Given the description of an element on the screen output the (x, y) to click on. 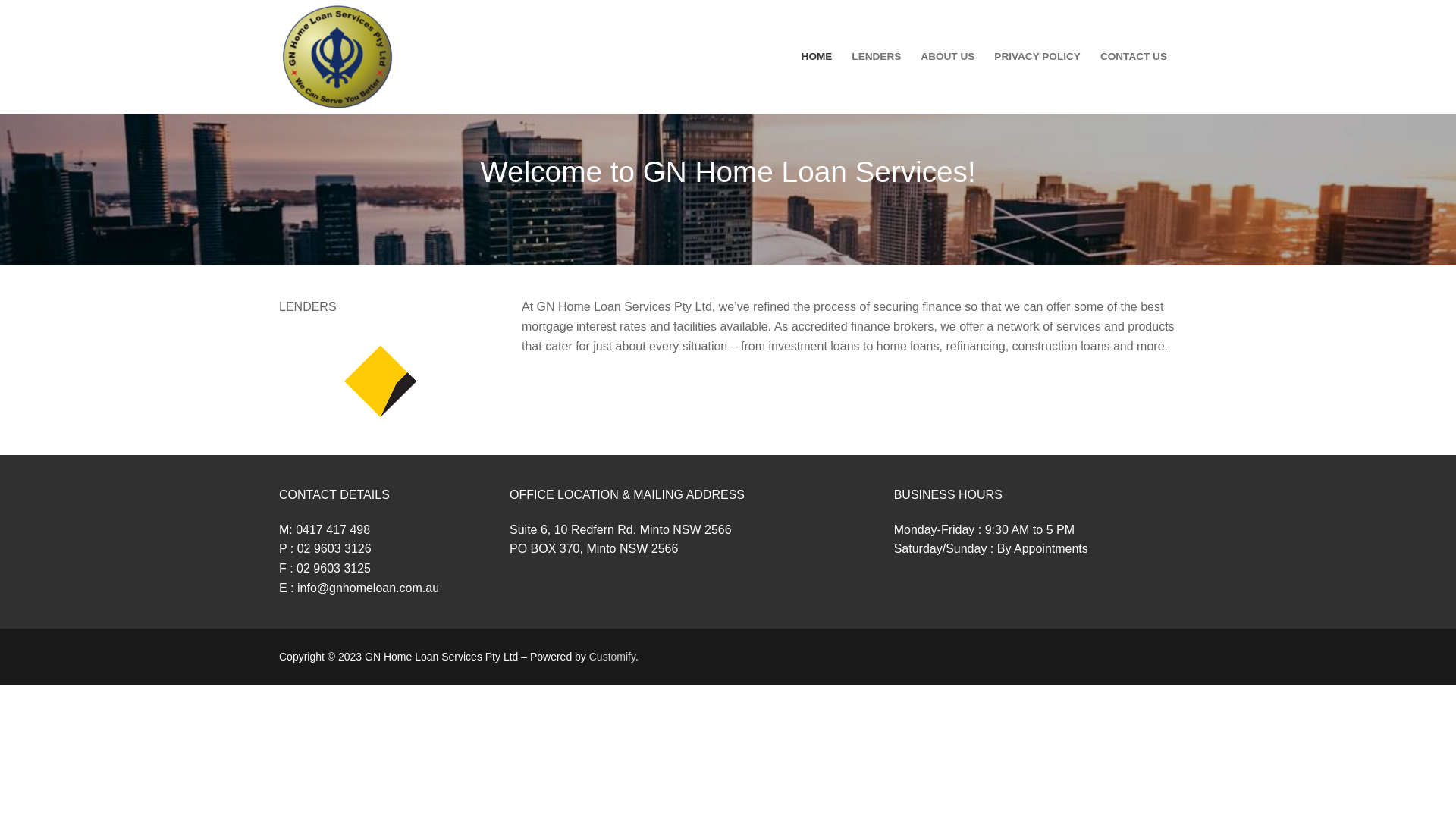
PRIVACY POLICY Element type: text (1037, 56)
Skip to content Element type: text (0, 0)
CONTACT US Element type: text (1133, 56)
LENDERS Element type: text (875, 56)
Customify Element type: text (612, 656)
ABOUT US Element type: text (947, 56)
HOME Element type: text (816, 56)
